Given the description of an element on the screen output the (x, y) to click on. 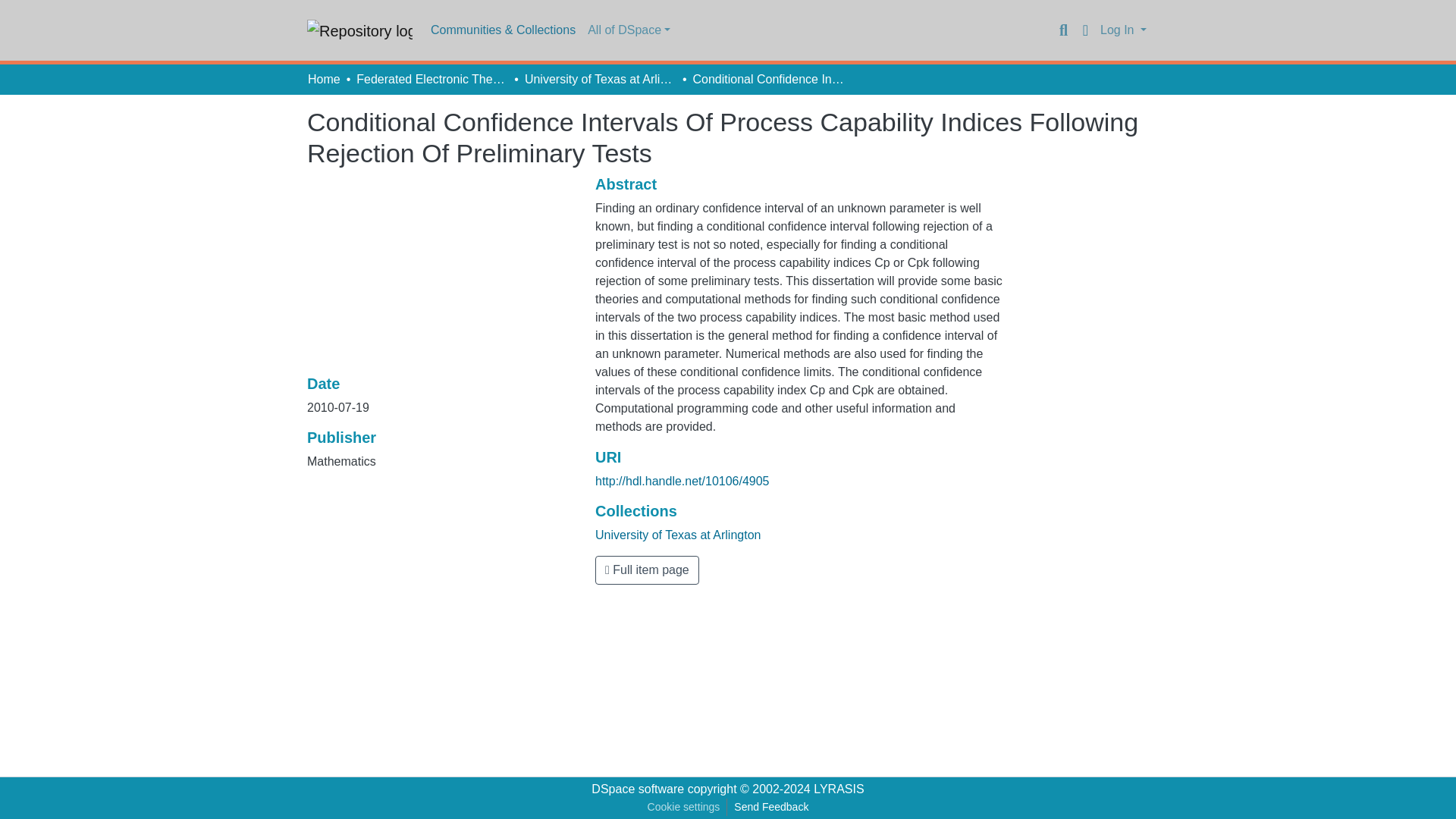
Cookie settings (683, 806)
Send Feedback (770, 806)
University of Texas at Arlington (677, 534)
Federated Electronic Theses and Dissertations (432, 79)
Language switch (1084, 30)
Home (323, 79)
DSpace software (637, 788)
Search (1063, 30)
University of Texas at Arlington (600, 79)
LYRASIS (838, 788)
Log In (1122, 30)
Full item page (646, 570)
All of DSpace (628, 30)
